Given the description of an element on the screen output the (x, y) to click on. 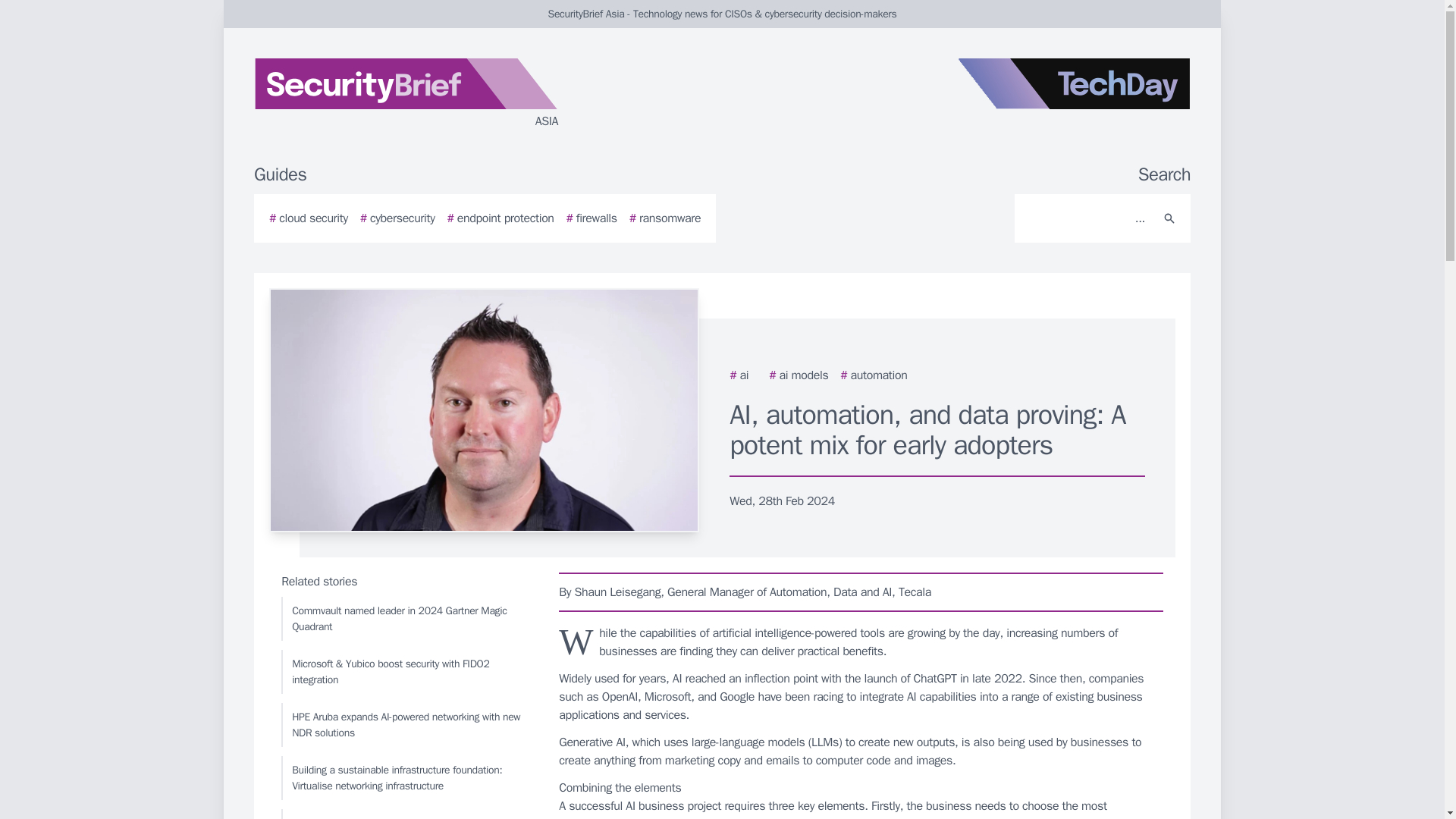
ASIA (435, 94)
Commvault named leader in 2024 Gartner Magic Quadrant (406, 618)
